Given the description of an element on the screen output the (x, y) to click on. 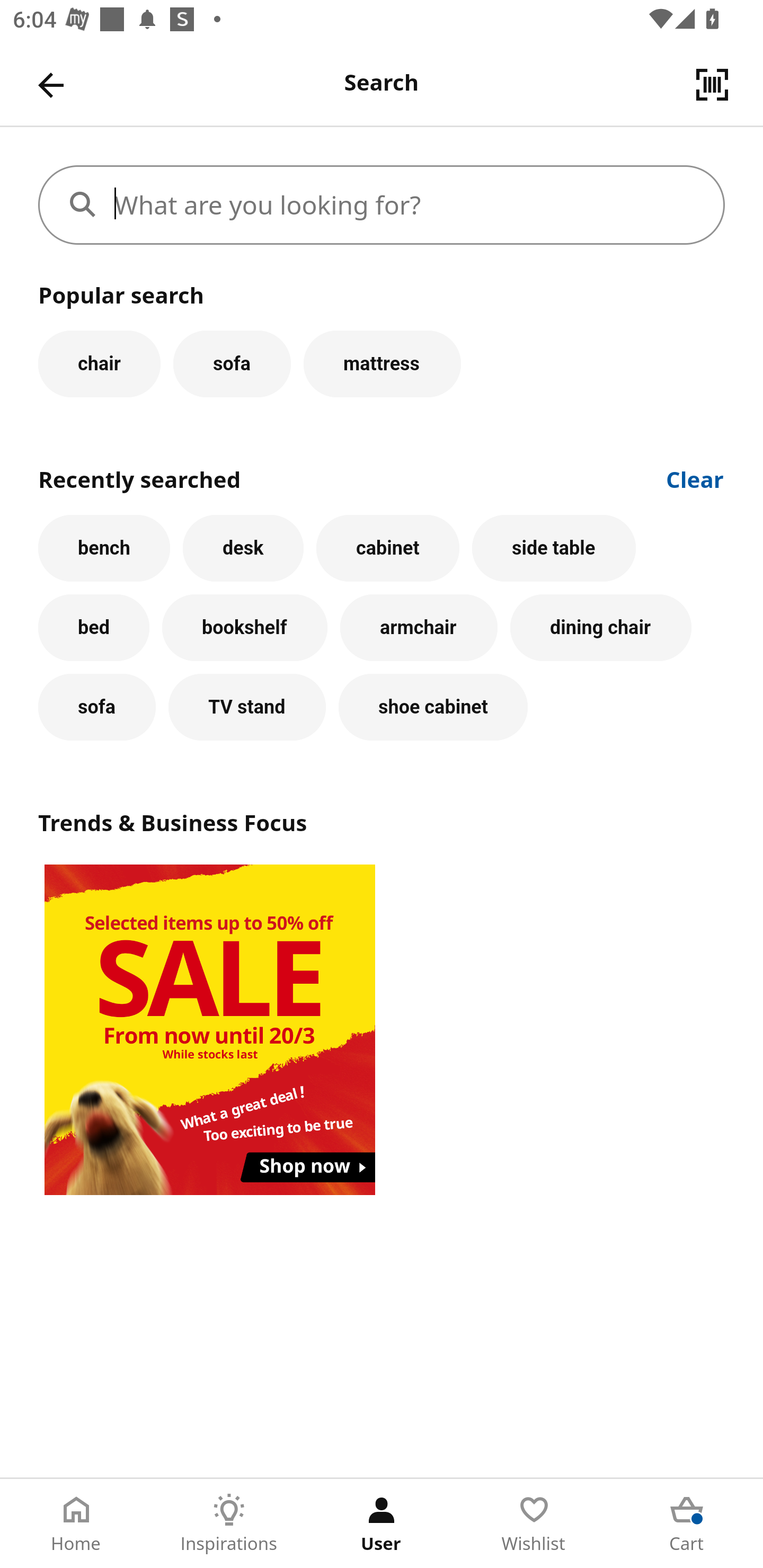
chair (99, 363)
sofa (231, 363)
mattress (381, 363)
Clear (695, 477)
bench (104, 547)
desk (243, 547)
cabinet (387, 547)
side table (553, 547)
bed (93, 627)
bookshelf (244, 627)
armchair (418, 627)
dining chair (600, 627)
sofa (96, 707)
TV stand (246, 707)
shoe cabinet (432, 707)
Home
Tab 1 of 5 (76, 1522)
Inspirations
Tab 2 of 5 (228, 1522)
User
Tab 3 of 5 (381, 1522)
Wishlist
Tab 4 of 5 (533, 1522)
Cart
Tab 5 of 5 (686, 1522)
